Given the description of an element on the screen output the (x, y) to click on. 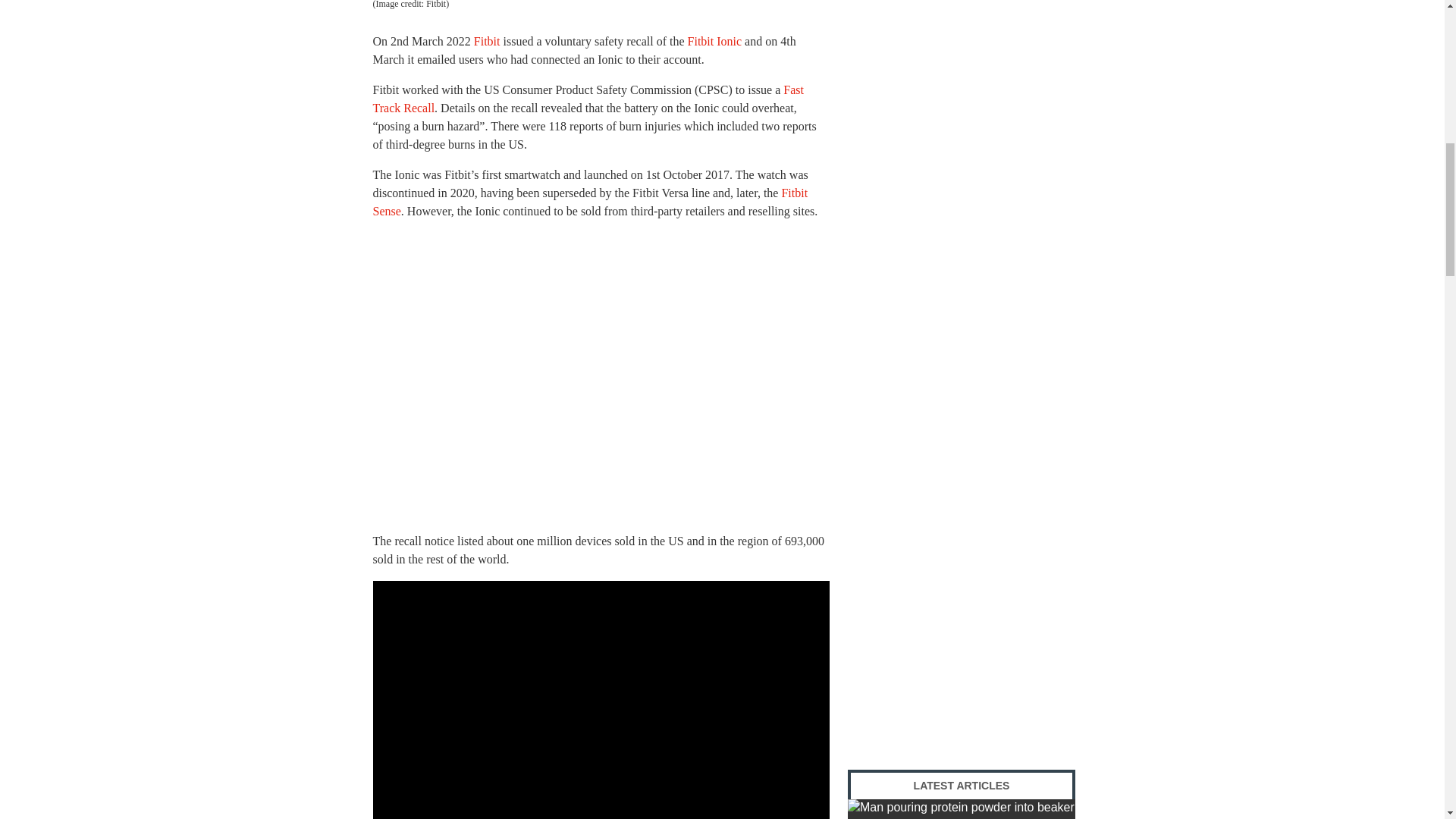
Fitbit (487, 41)
Fitbit Sense (590, 201)
Fitbit Ionic (714, 41)
Fast Track Recall (587, 98)
